Given the description of an element on the screen output the (x, y) to click on. 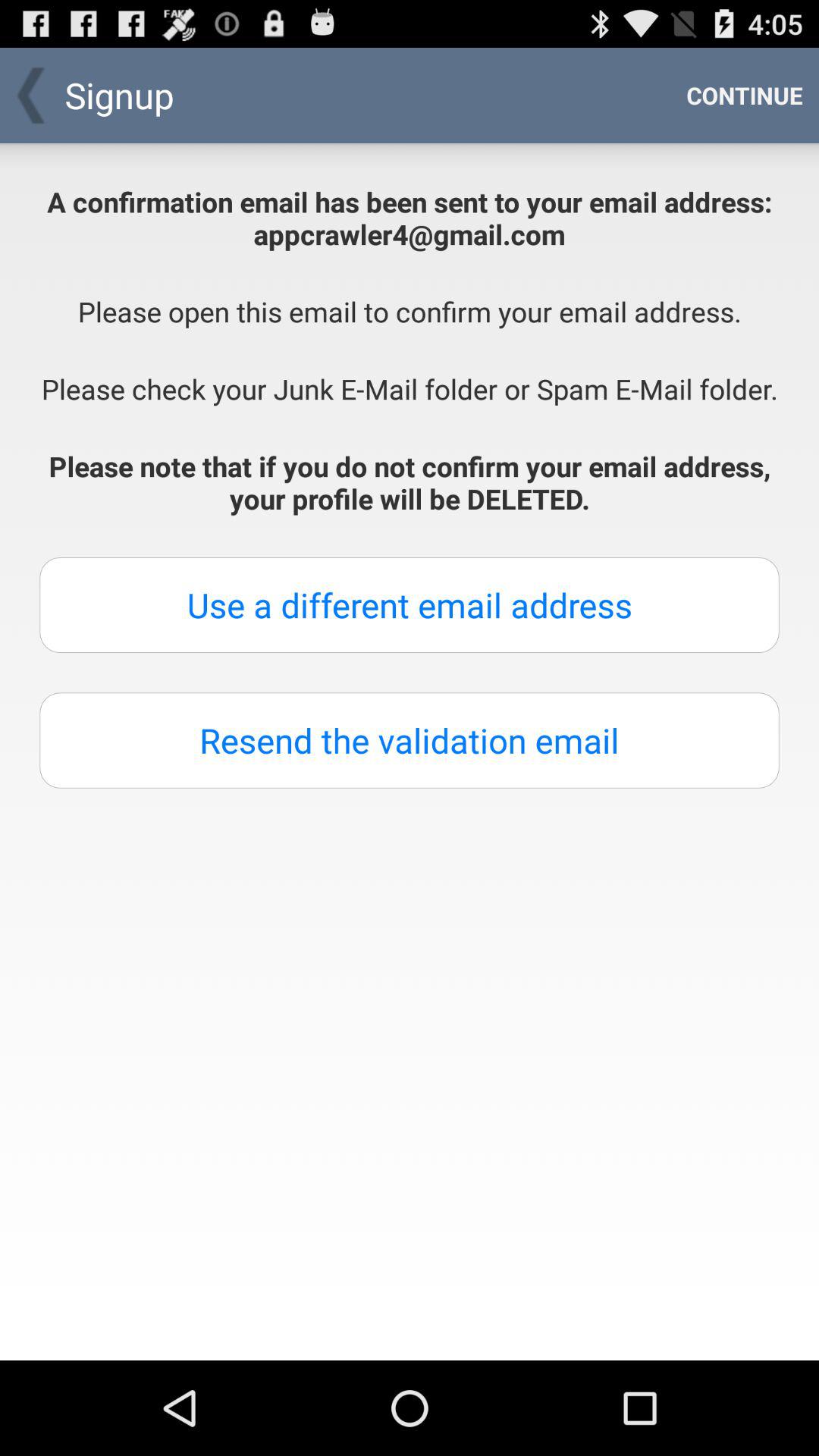
click icon above the a confirmation email app (744, 95)
